Given the description of an element on the screen output the (x, y) to click on. 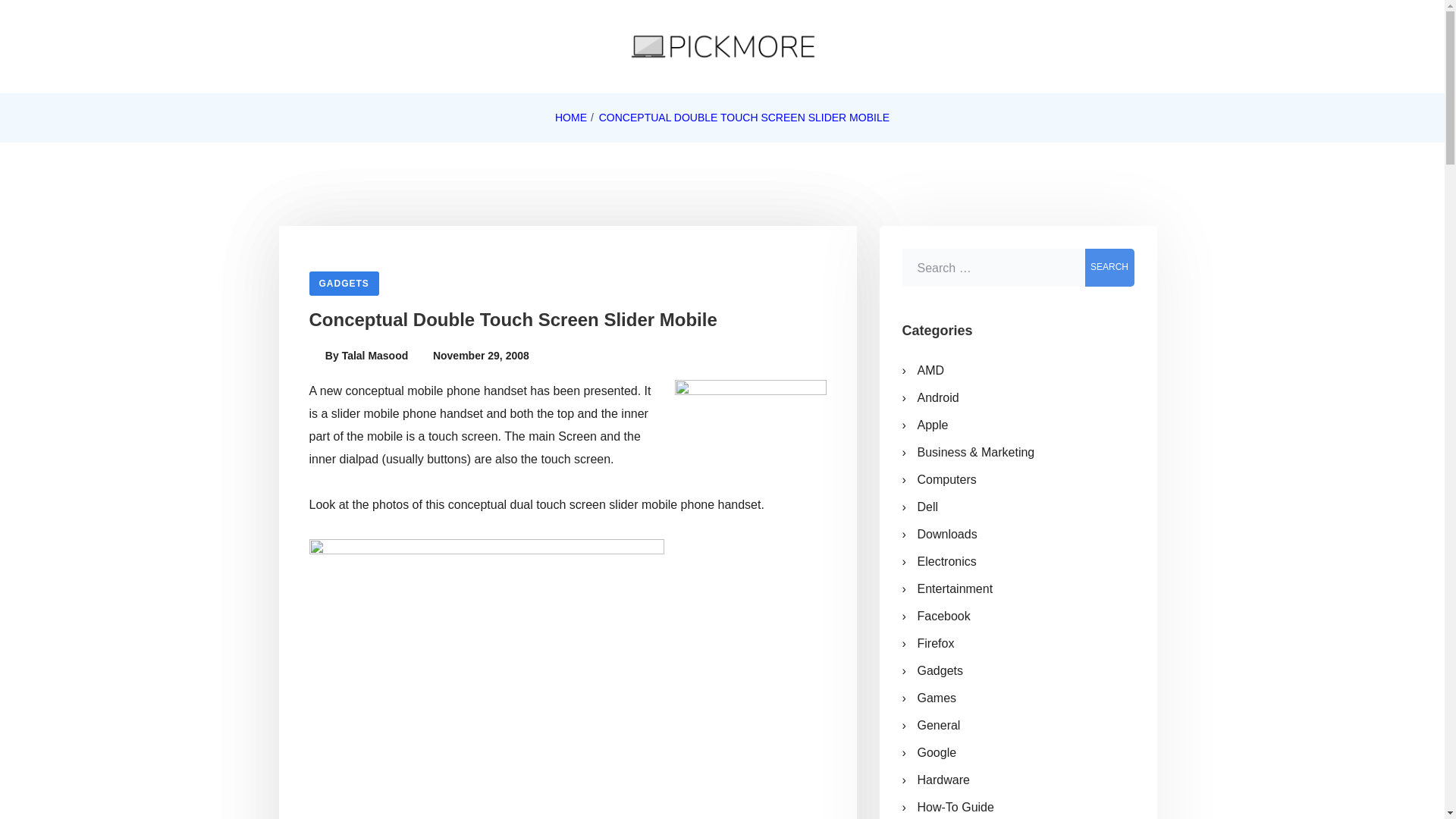
CONCEPTUAL DOUBLE TOUCH SCREEN SLIDER MOBILE (743, 117)
HOME (570, 117)
Search (1109, 267)
Double Touch Screen Slider Mobile Phone Handset (485, 671)
Double Touch Screen Slider Mobile Phone (751, 423)
Search (1109, 267)
